Given the description of an element on the screen output the (x, y) to click on. 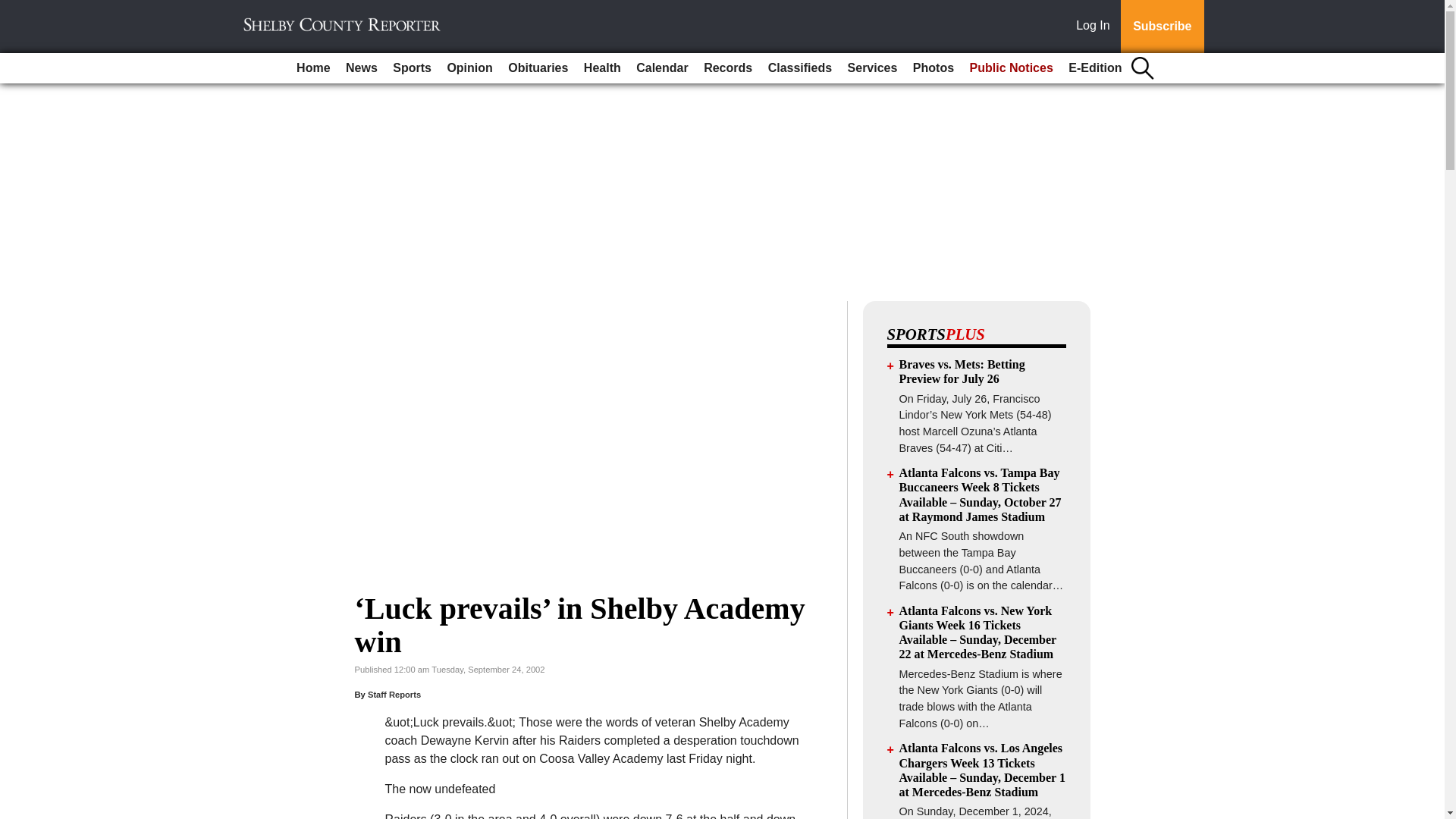
News (361, 68)
Home (312, 68)
Health (602, 68)
Obituaries (537, 68)
Calendar (662, 68)
Log In (1095, 26)
Sports (412, 68)
Opinion (469, 68)
Classifieds (799, 68)
Records (727, 68)
Subscribe (1162, 26)
Services (872, 68)
